Given the description of an element on the screen output the (x, y) to click on. 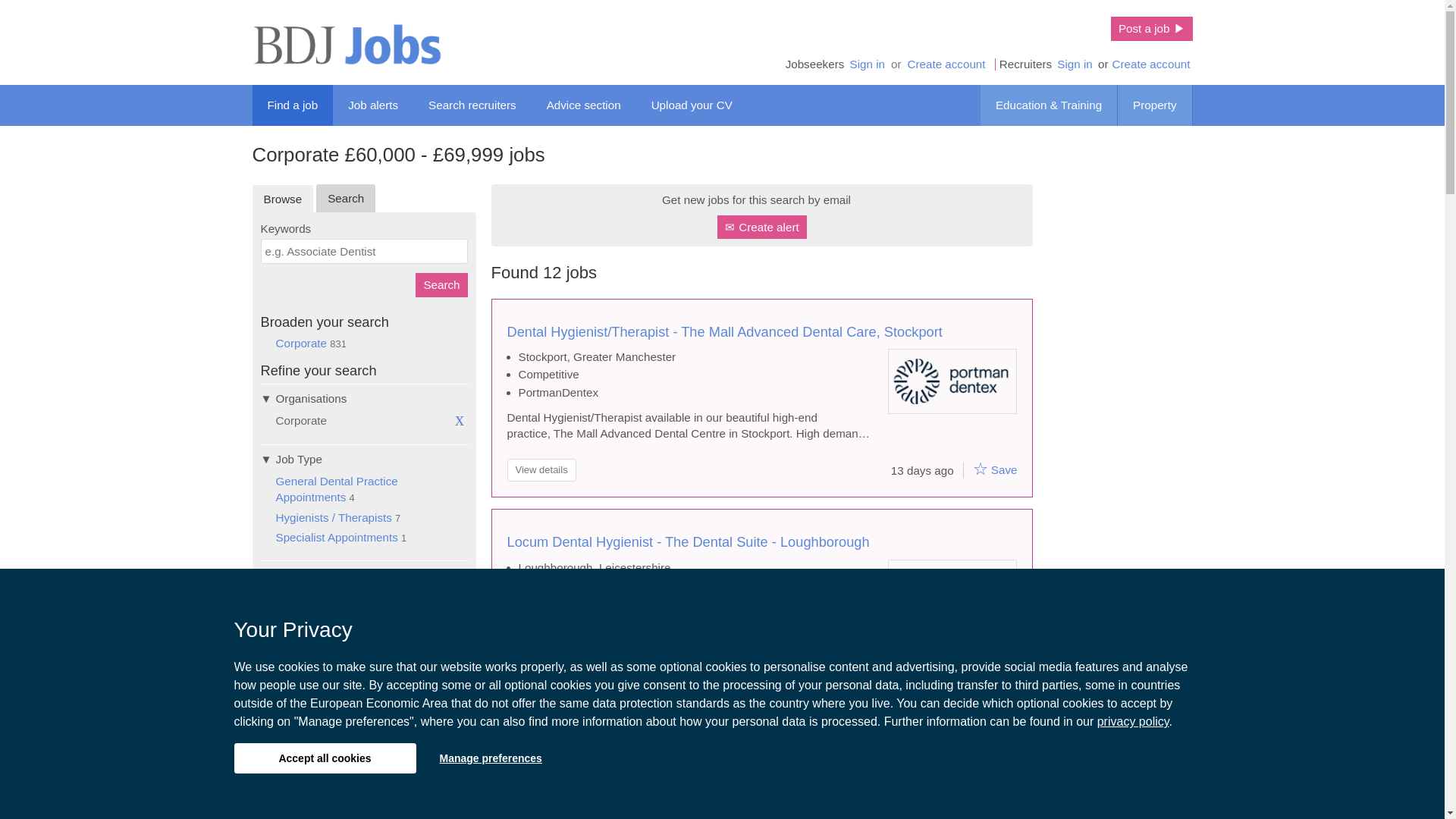
Add to shortlist (980, 468)
Sign in (866, 64)
Upload your CV (692, 105)
Search (440, 284)
Manage preferences (490, 757)
General Dental Practice Appointments (336, 489)
Accept all cookies (323, 757)
Add to shortlist (980, 678)
Browse (282, 198)
BDJ Jobs (346, 44)
Contract Type (363, 635)
Hours (363, 664)
Search recruiters (472, 105)
Salary Band (363, 574)
Specialist Appointments (336, 536)
